Given the description of an element on the screen output the (x, y) to click on. 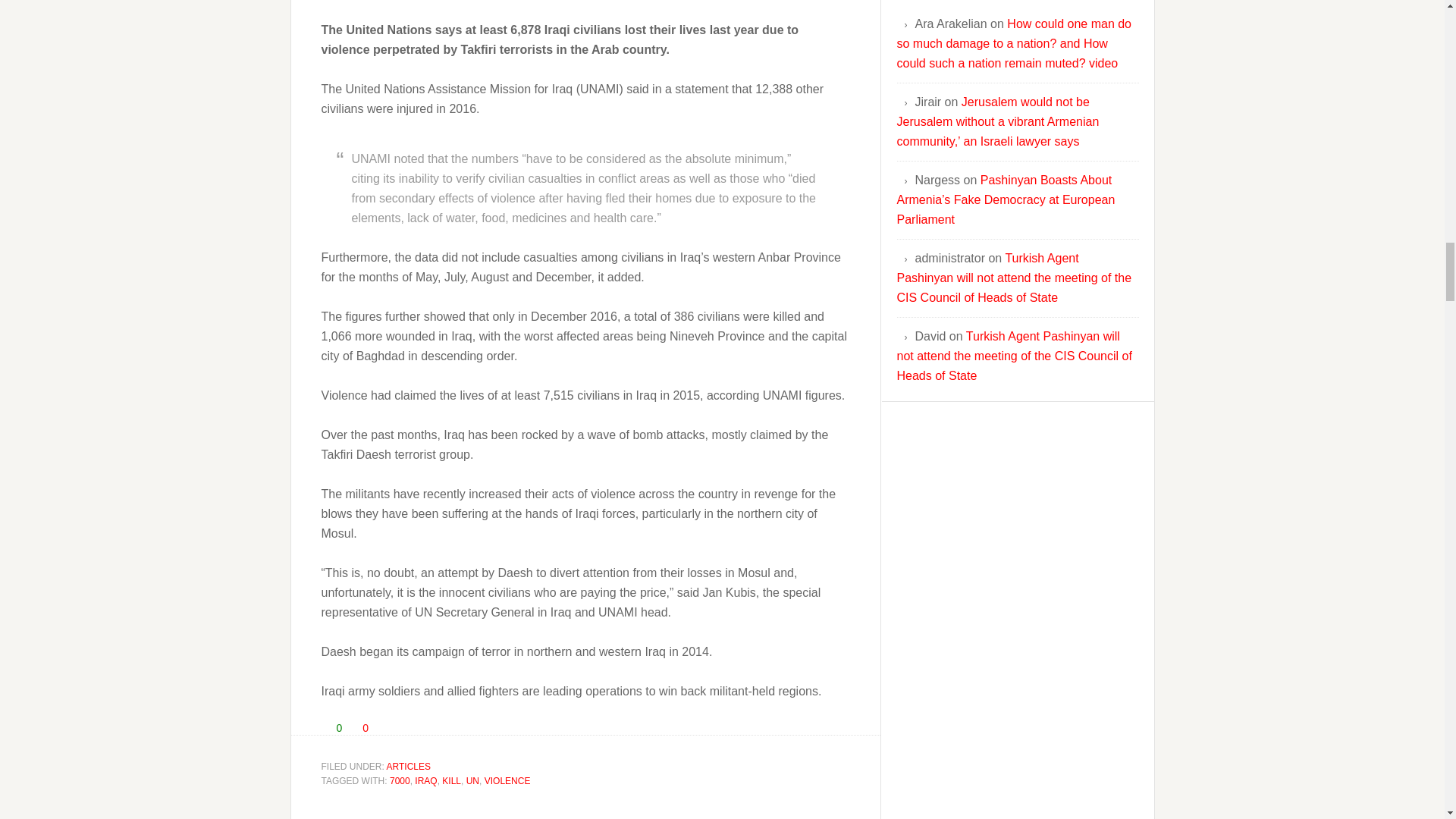
Like (326, 727)
Unlike (352, 727)
KILL (451, 780)
UN (472, 780)
ARTICLES (408, 766)
VIOLENCE (507, 780)
7000 (400, 780)
IRAQ (425, 780)
